Given the description of an element on the screen output the (x, y) to click on. 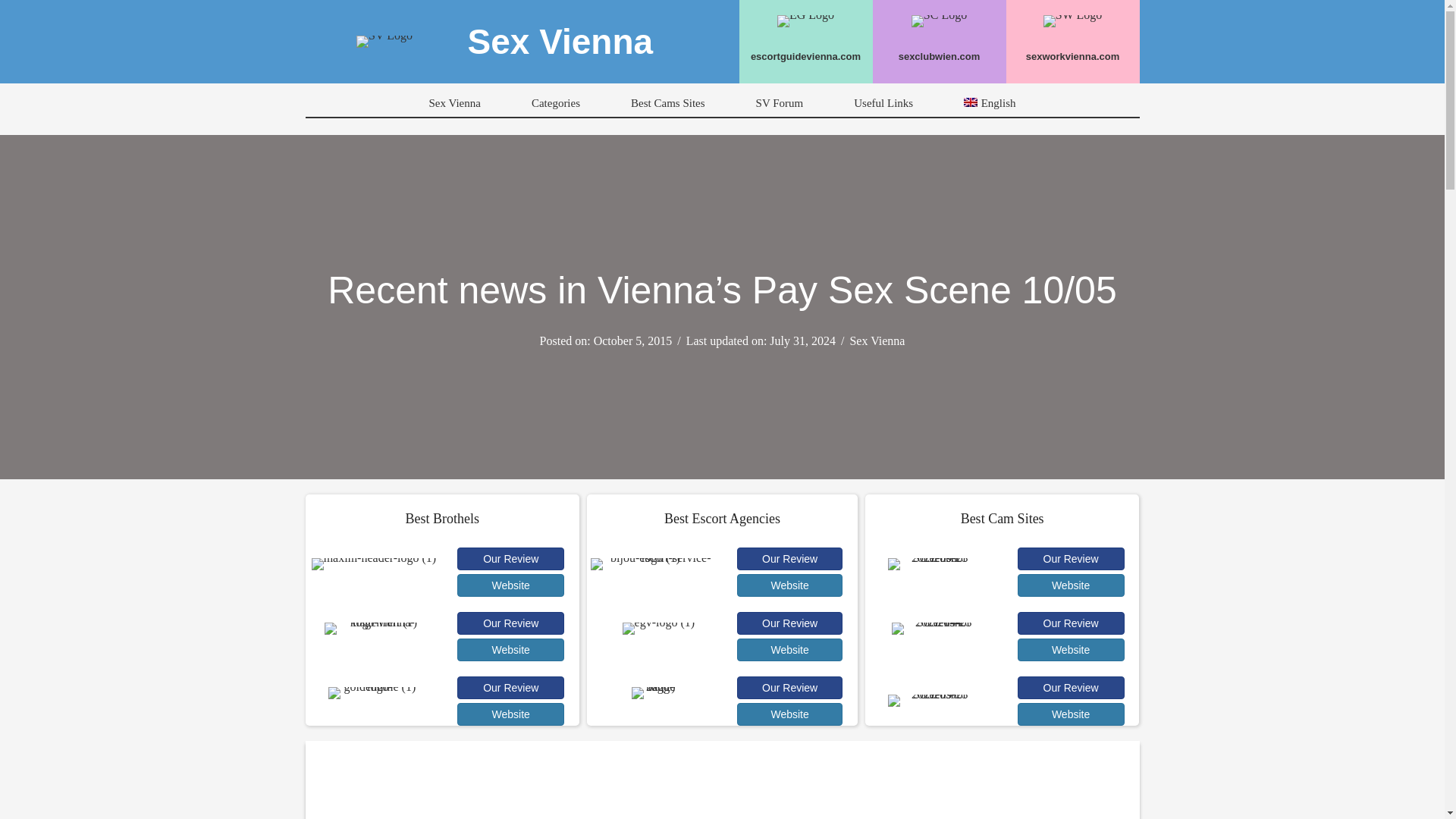
Our Review (510, 687)
EG Logo (805, 21)
English (969, 102)
SC Logo (938, 21)
SW Logo (1072, 21)
escortguidevienna.com (805, 56)
Website (510, 585)
Screenshot 2021-09-23 132144 (936, 628)
Best Cams Sites (667, 102)
sexworkvienna.com (1072, 56)
Useful Links (882, 102)
Website (510, 649)
sexclubwien.com (938, 56)
English (990, 102)
Sex Vienna (454, 102)
